Given the description of an element on the screen output the (x, y) to click on. 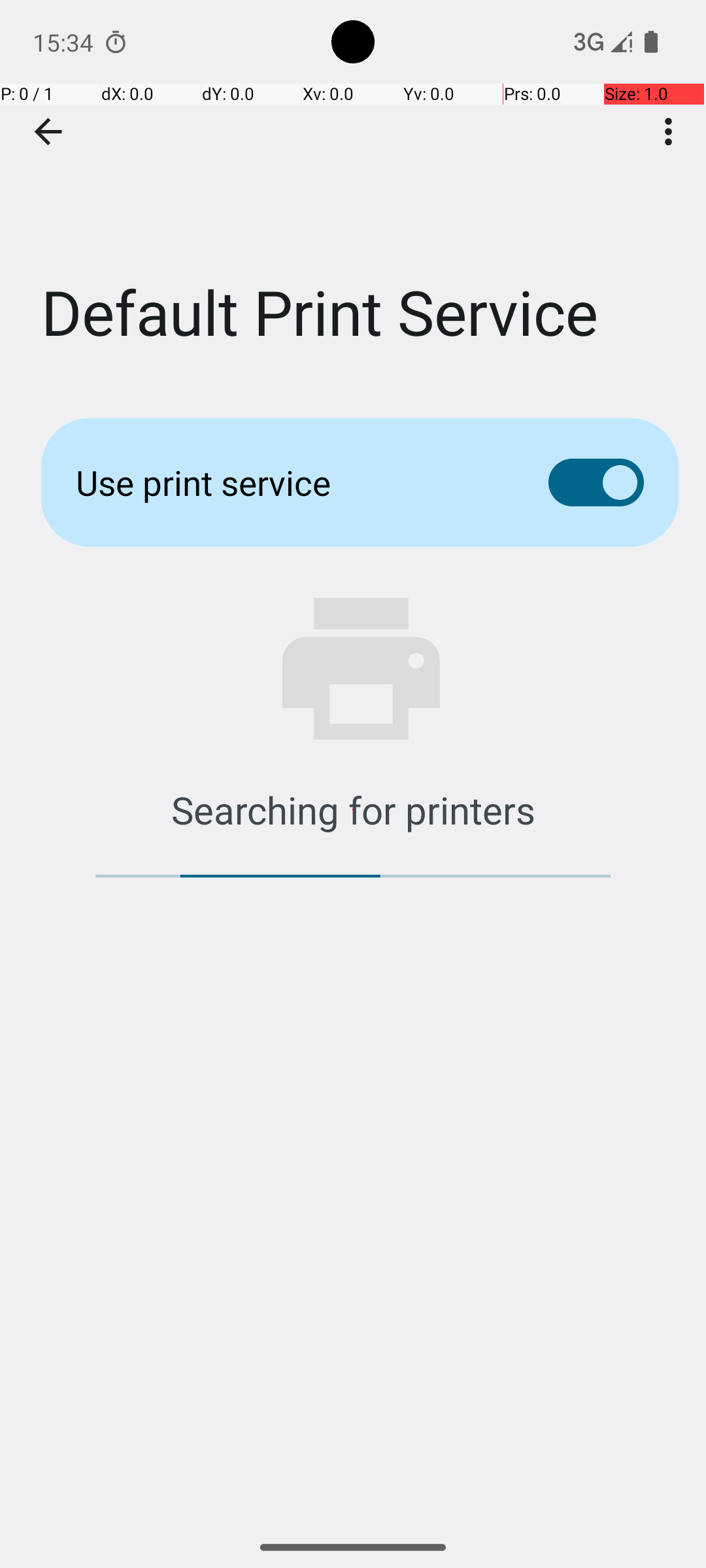
Default Print Service Element type: android.widget.FrameLayout (353, 195)
Searching for printers Element type: android.widget.TextView (352, 809)
Use print service Element type: android.widget.TextView (291, 482)
